Given the description of an element on the screen output the (x, y) to click on. 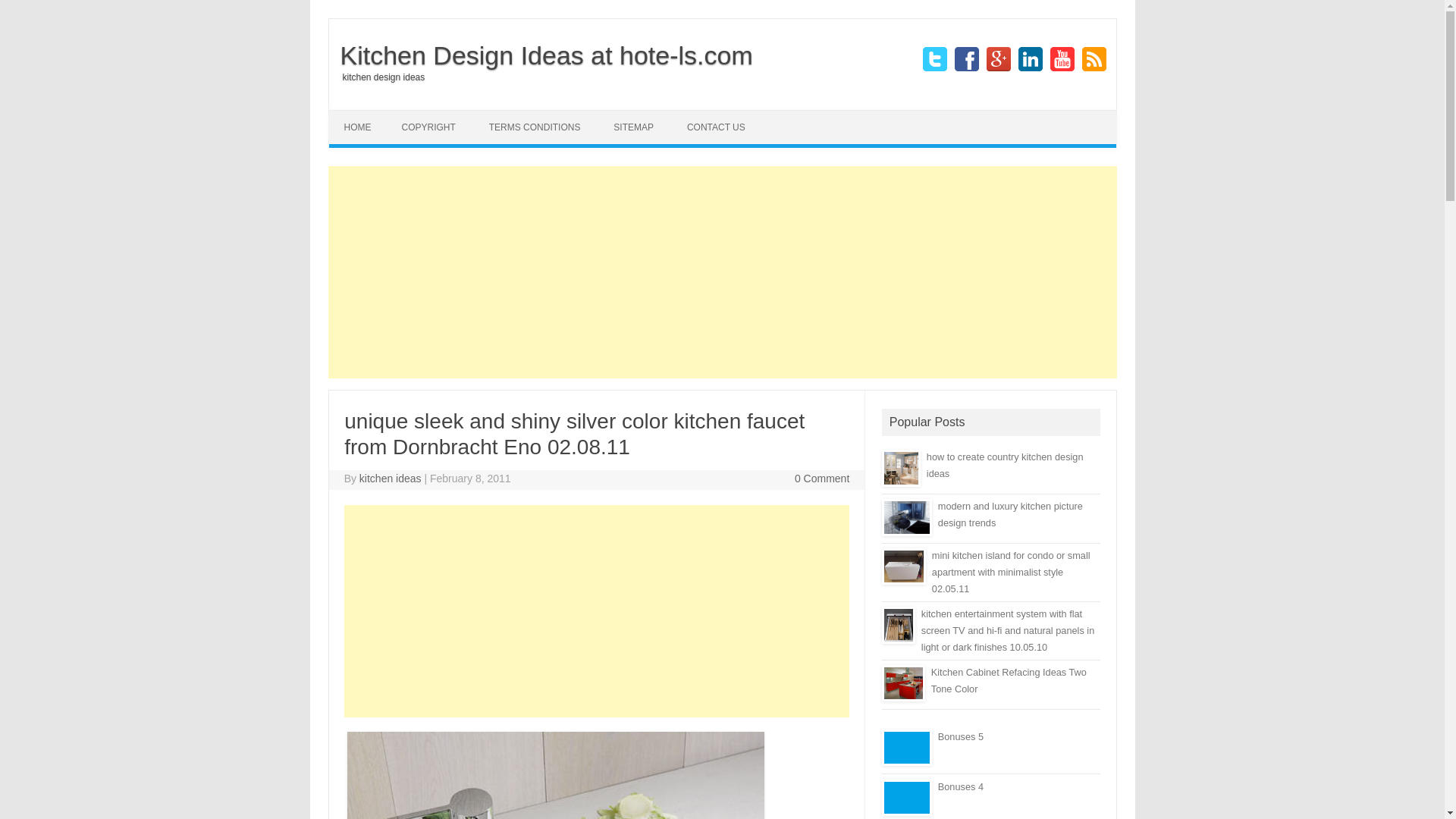
Skip to content (757, 114)
kitchen design ideas (377, 77)
HOME (358, 127)
TERMS CONDITIONS (534, 127)
COPYRIGHT (428, 127)
SITEMAP (633, 127)
kitchen ideas (390, 478)
Kitchen Design Ideas at hote-ls.com (540, 54)
0 Comment (821, 478)
Skip to content (757, 114)
CONTACT US (715, 127)
Posts by kitchen ideas (390, 478)
Kitchen Design Ideas at hote-ls.com (540, 54)
Advertisement (595, 611)
